Given the description of an element on the screen output the (x, y) to click on. 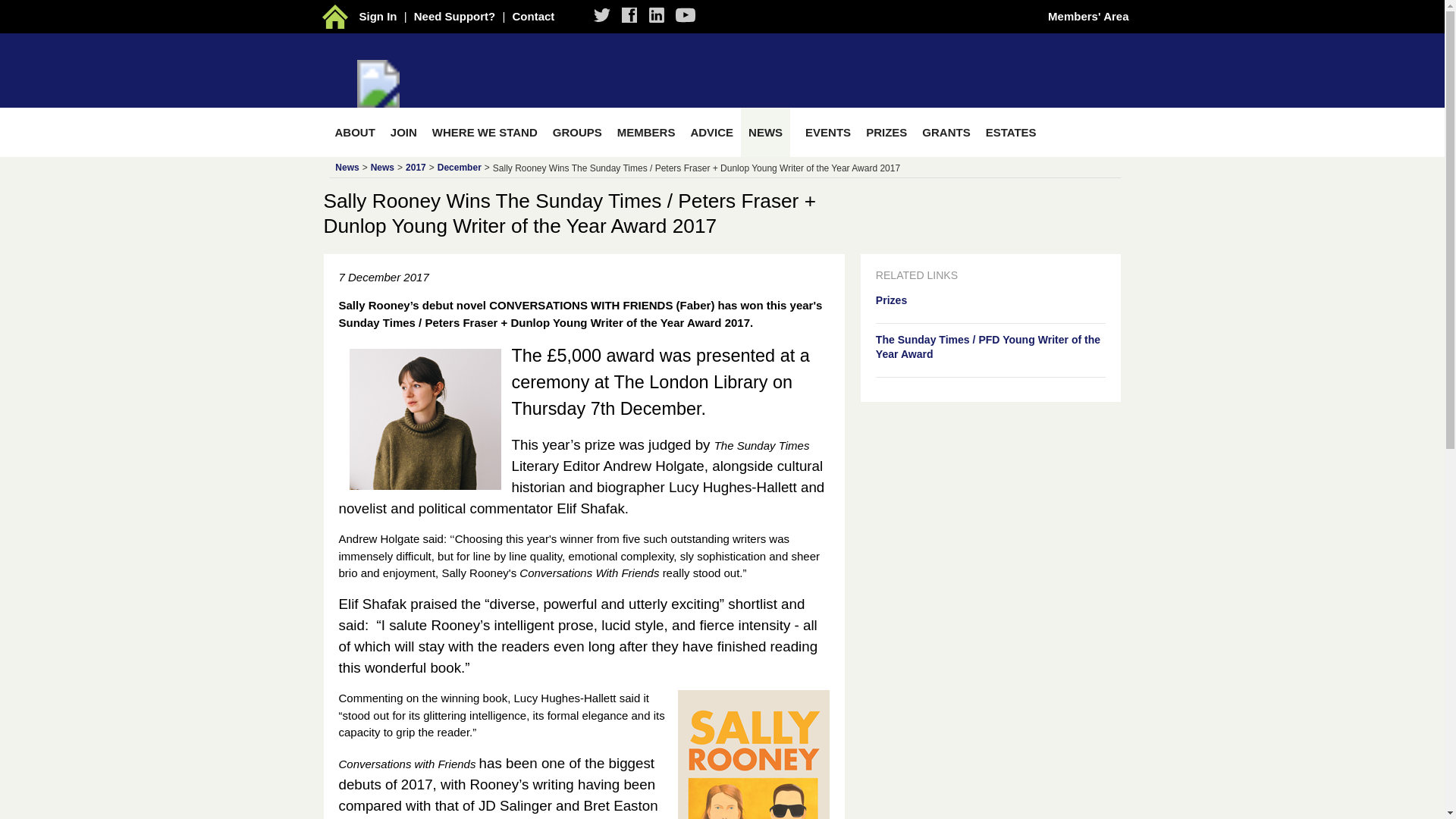
Find us on YouTube (685, 14)
Contact (533, 16)
Need Support? (454, 16)
Follow Society of Authors (602, 14)
ABOUT (351, 132)
Find us on Facebook (629, 14)
YouTube (685, 14)
Facebook (656, 14)
Sign In (378, 16)
Connect with us on LinkedIn (656, 14)
Sign In (378, 16)
The Society of Authors (336, 15)
Facebook (629, 14)
Twitter (602, 14)
Members' Area (1088, 16)
